Given the description of an element on the screen output the (x, y) to click on. 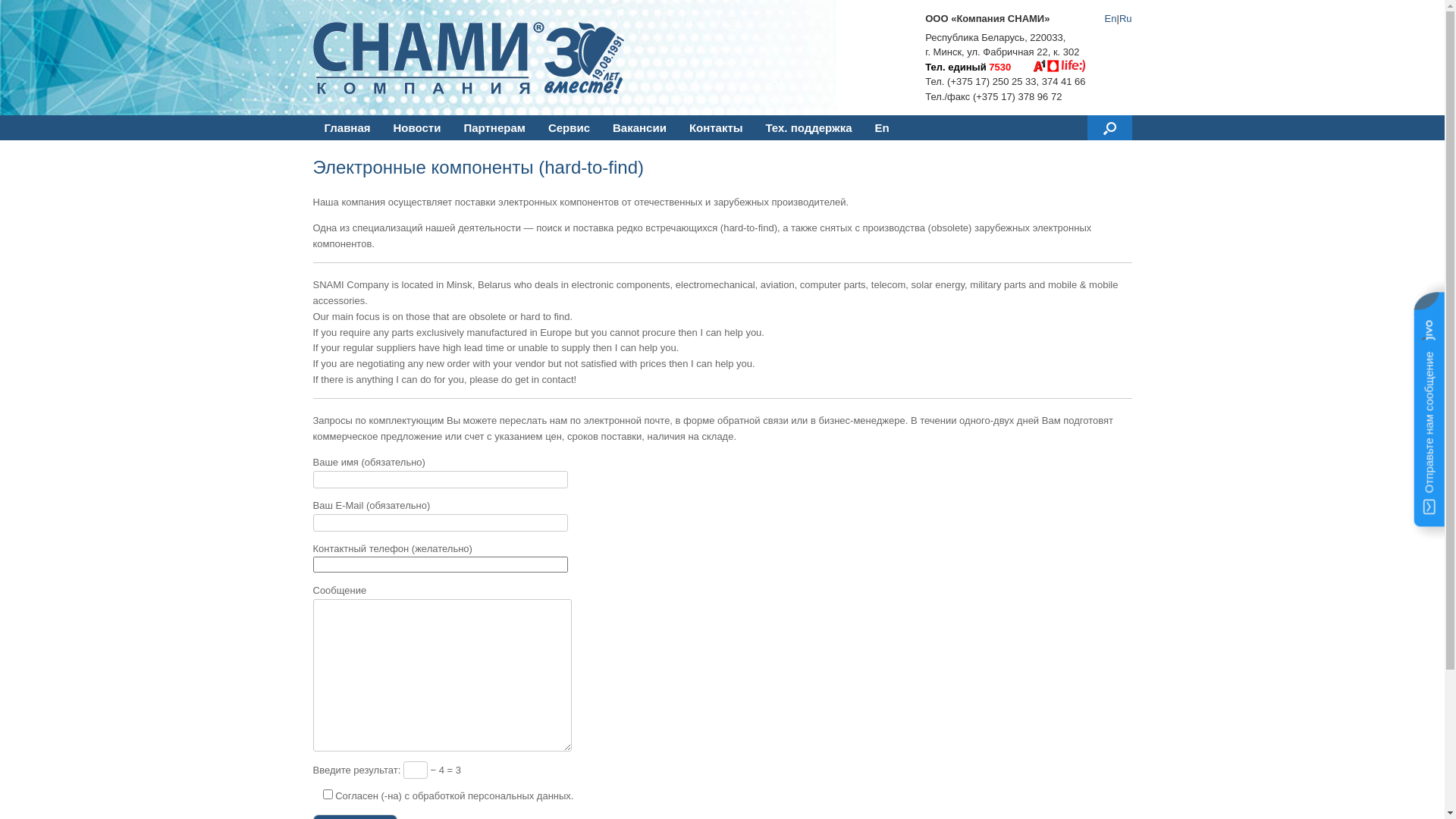
Ru Element type: text (1125, 18)
Snami Company Element type: hover (471, 57)
En Element type: text (1110, 18)
En Element type: text (881, 127)
